Given the description of an element on the screen output the (x, y) to click on. 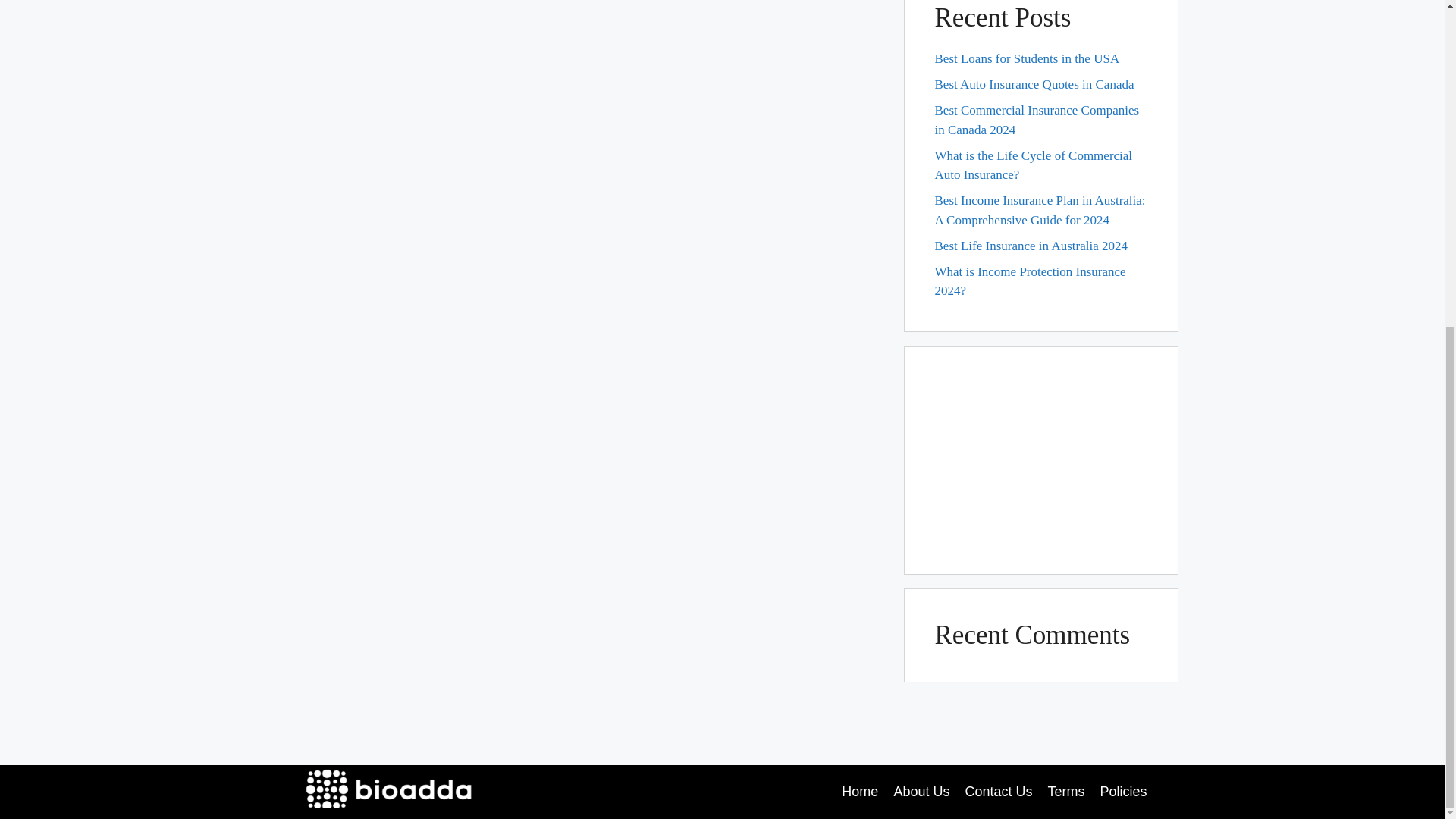
Best Loans for Students in the USA (1026, 58)
Contact Us (997, 792)
Best Auto Insurance Quotes in Canada (1034, 83)
Home (859, 792)
Policies (1123, 792)
About Us (921, 792)
What is the Life Cycle of Commercial Auto Insurance? (1033, 165)
Terms (1065, 792)
Best Life Insurance in Australia 2024 (1030, 246)
